Given the description of an element on the screen output the (x, y) to click on. 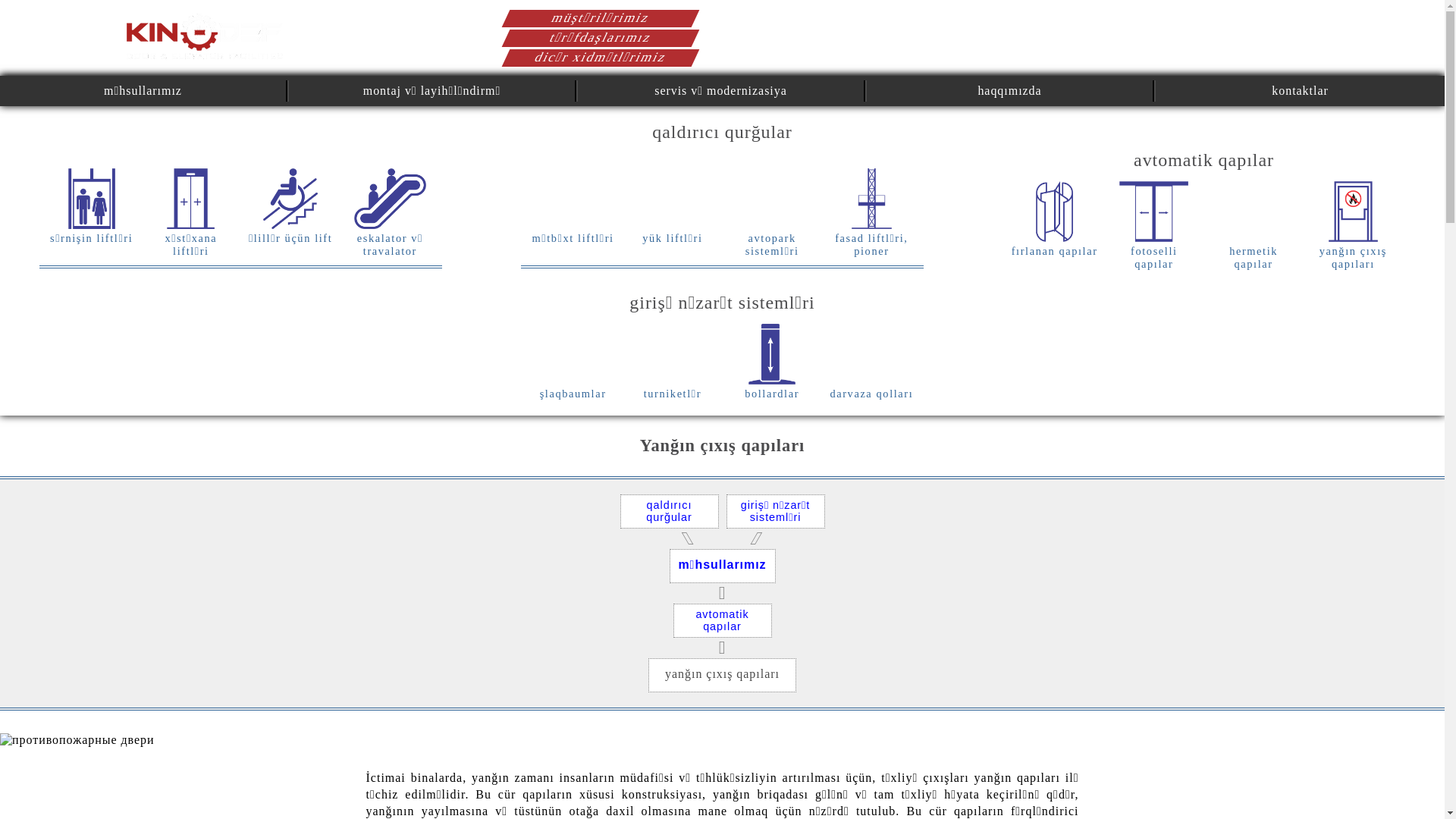
RUS Element type: text (1296, 42)
+99 451 255-27-85 Element type: text (1005, 24)
bollardlar Element type: text (771, 361)
kontaktlar Element type: text (1299, 91)
